Given the description of an element on the screen output the (x, y) to click on. 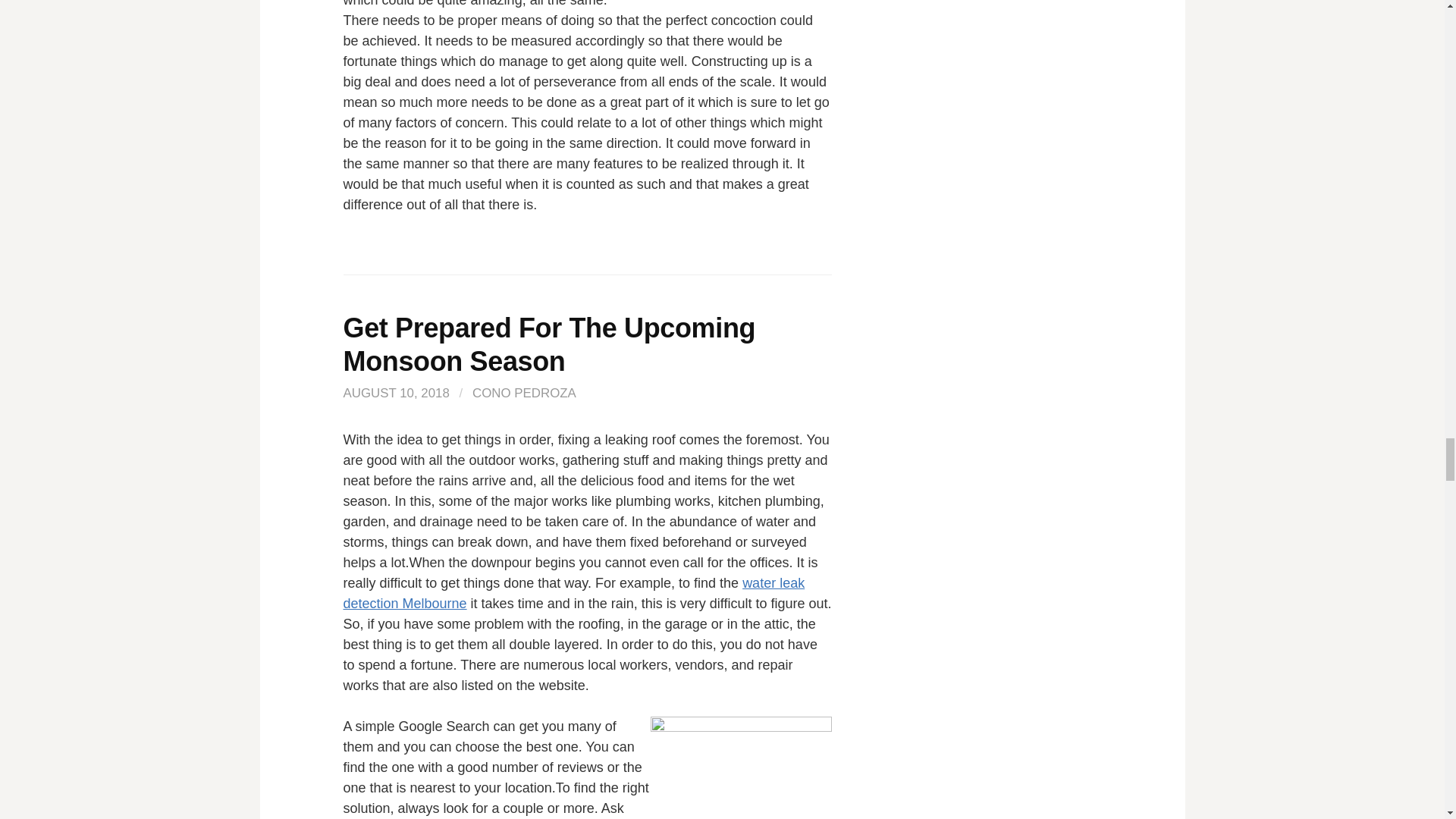
water leak.jpg (740, 767)
AUGUST 10, 2018 (395, 392)
Get Prepared For The Upcoming Monsoon Season (548, 343)
